Given the description of an element on the screen output the (x, y) to click on. 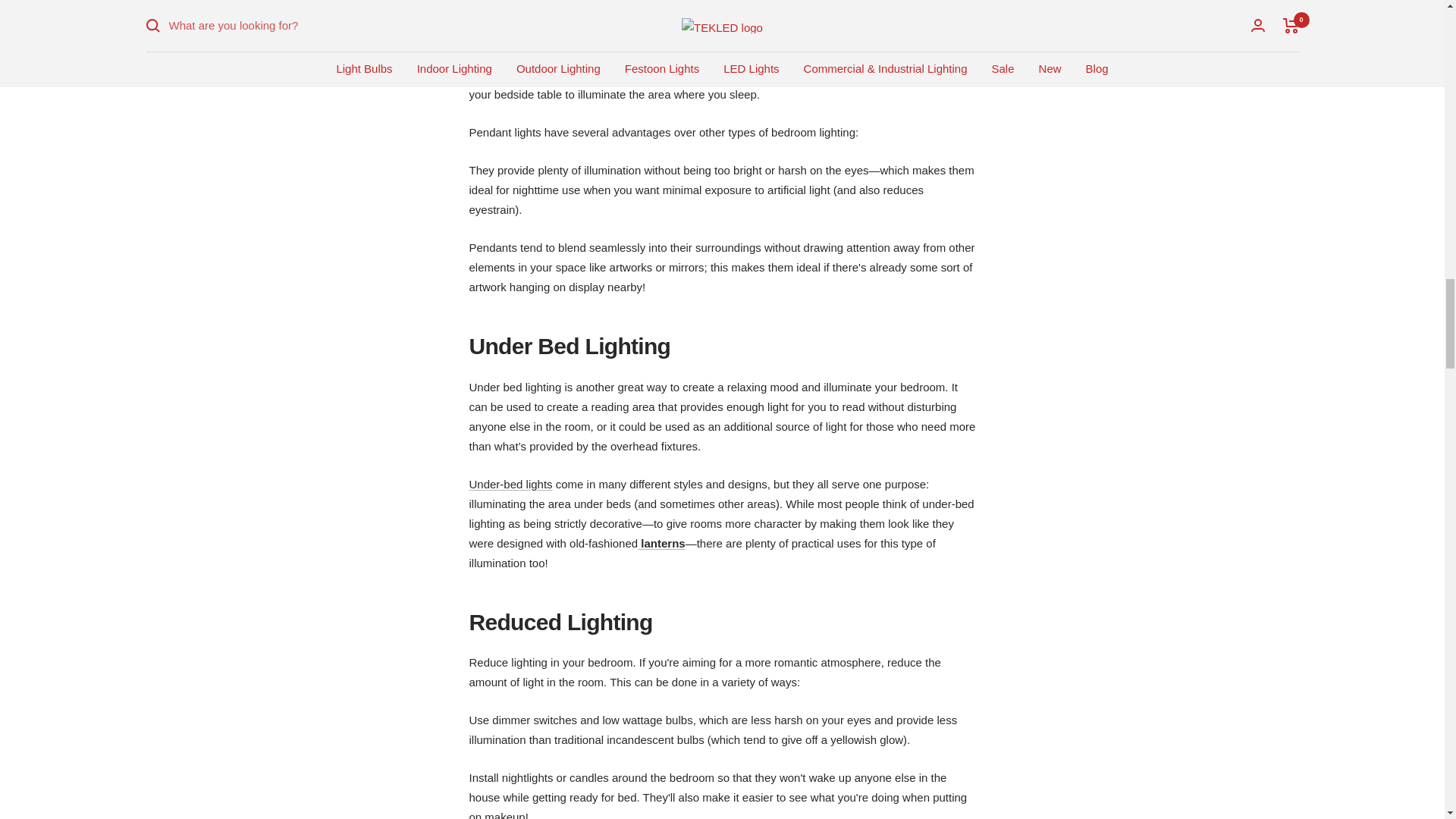
Pendant Lights (504, 34)
What is lantern light? (661, 543)
LED strip lights (509, 483)
lanterns (661, 543)
Pendant lights (504, 34)
Under-bed lights (509, 483)
